Given the description of an element on the screen output the (x, y) to click on. 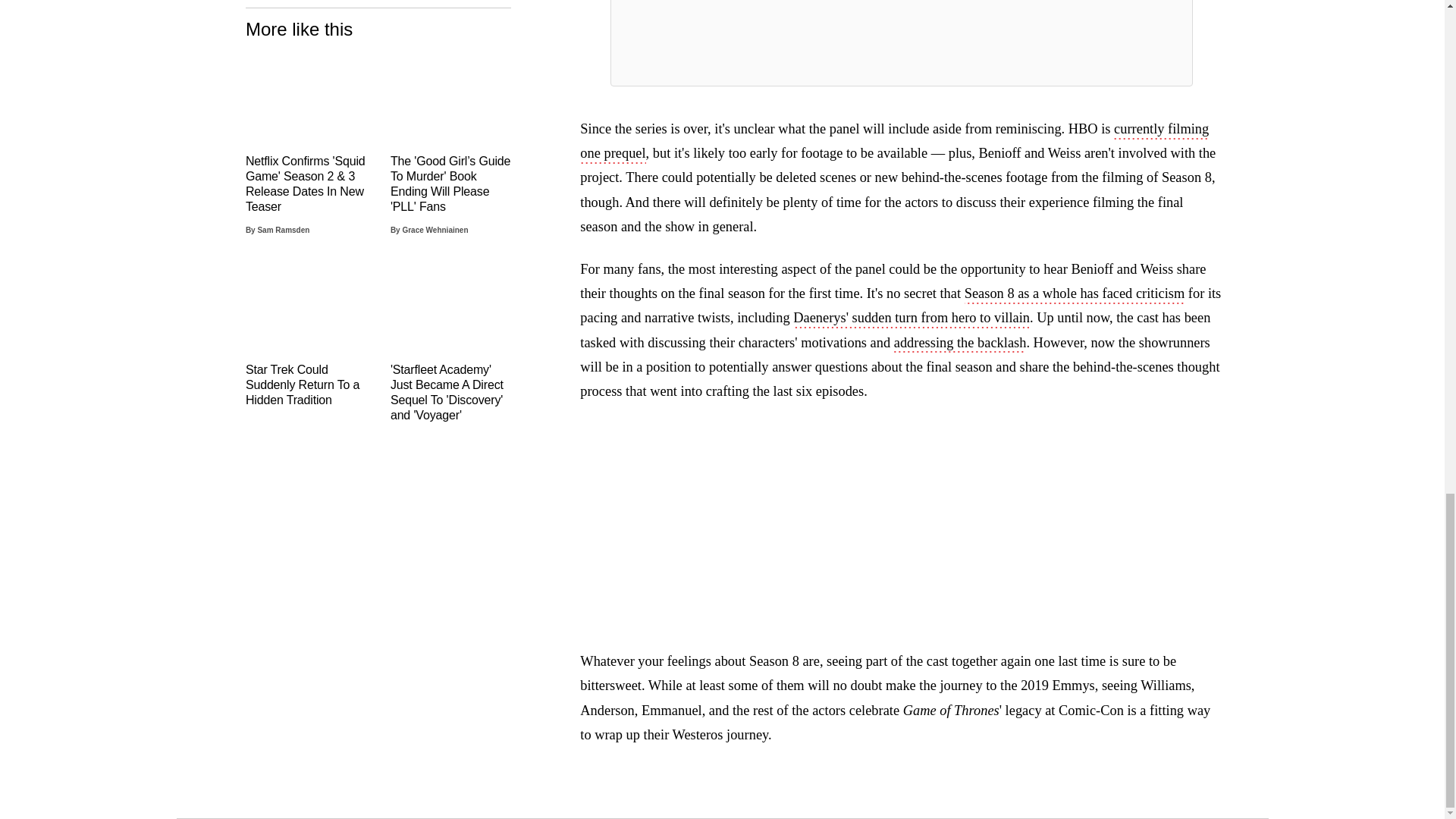
currently filming one prequel (893, 142)
Season 8 as a whole has faced criticism (1074, 294)
addressing the backlash (959, 343)
Daenerys' sudden turn from hero to villain (911, 319)
